Given the description of an element on the screen output the (x, y) to click on. 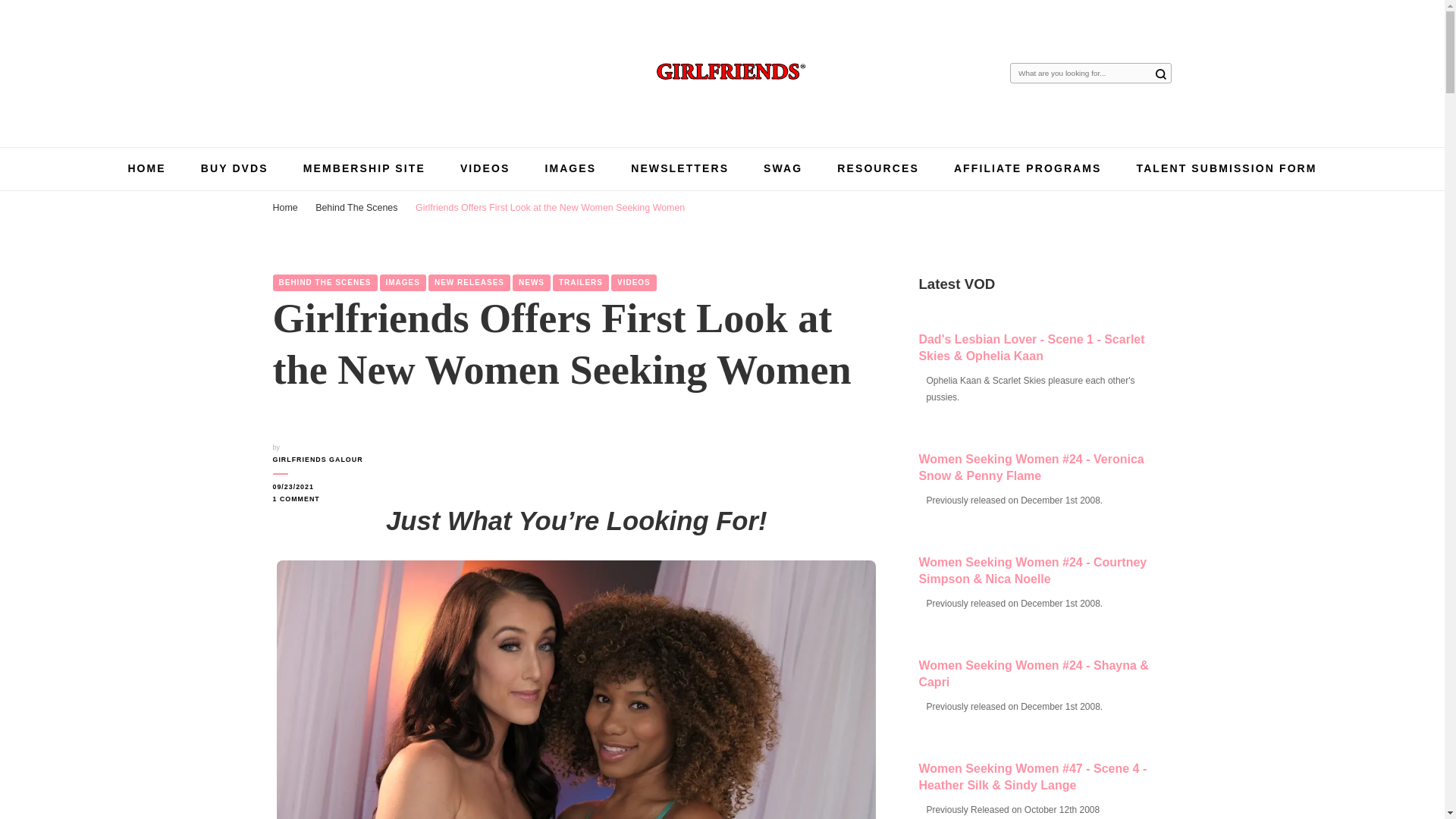
HOME (146, 168)
Girlfriends Films Official Blog (611, 112)
Search (1161, 73)
RESOURCES (877, 168)
Search (1161, 73)
MEMBERSHIP SITE (363, 168)
VIDEOS (485, 168)
SWAG (782, 168)
BUY DVDS (233, 168)
Search (1161, 73)
IMAGES (569, 168)
NEWSLETTERS (679, 168)
